Given the description of an element on the screen output the (x, y) to click on. 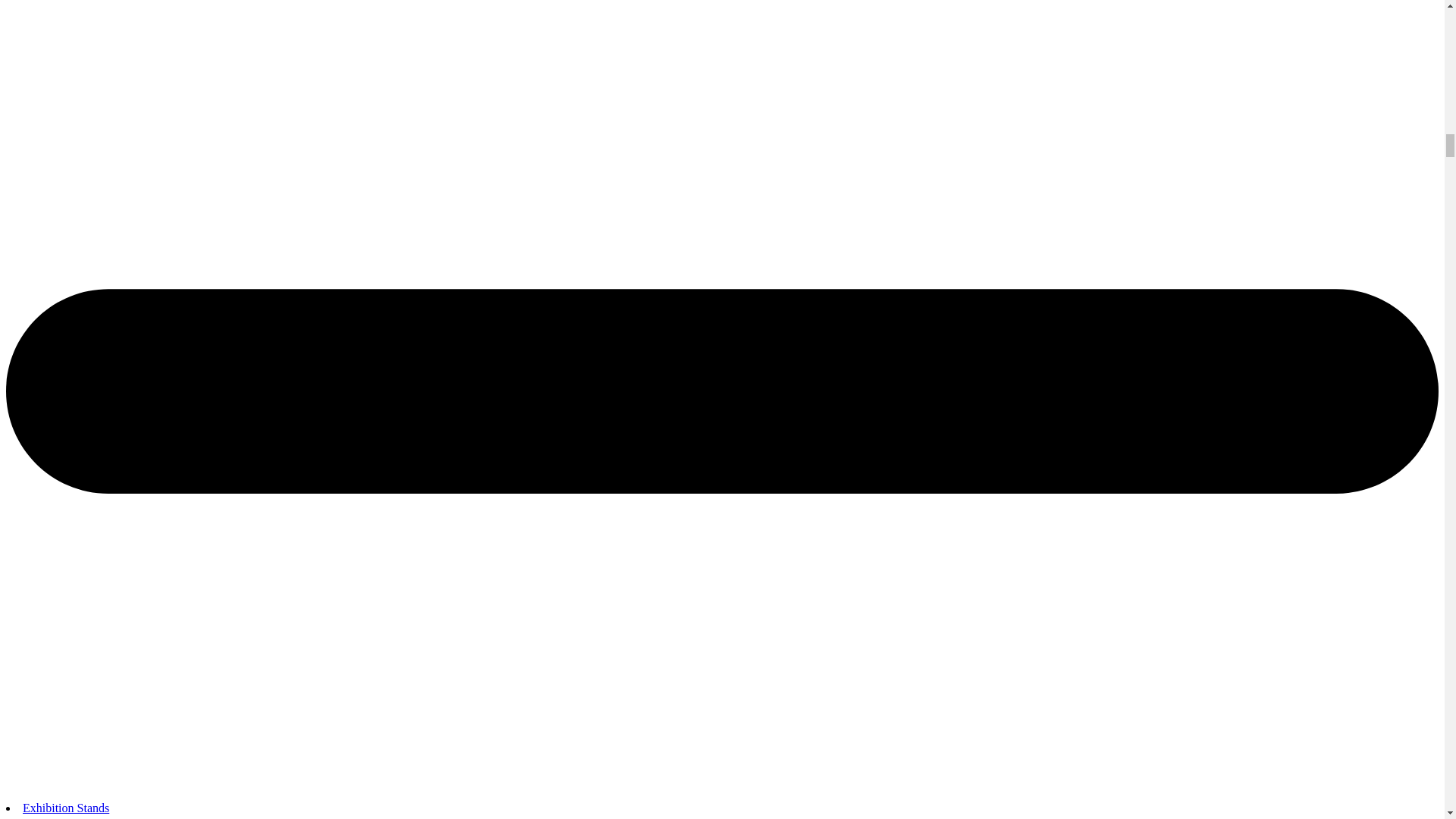
Exhibition Stands (66, 807)
